Given the description of an element on the screen output the (x, y) to click on. 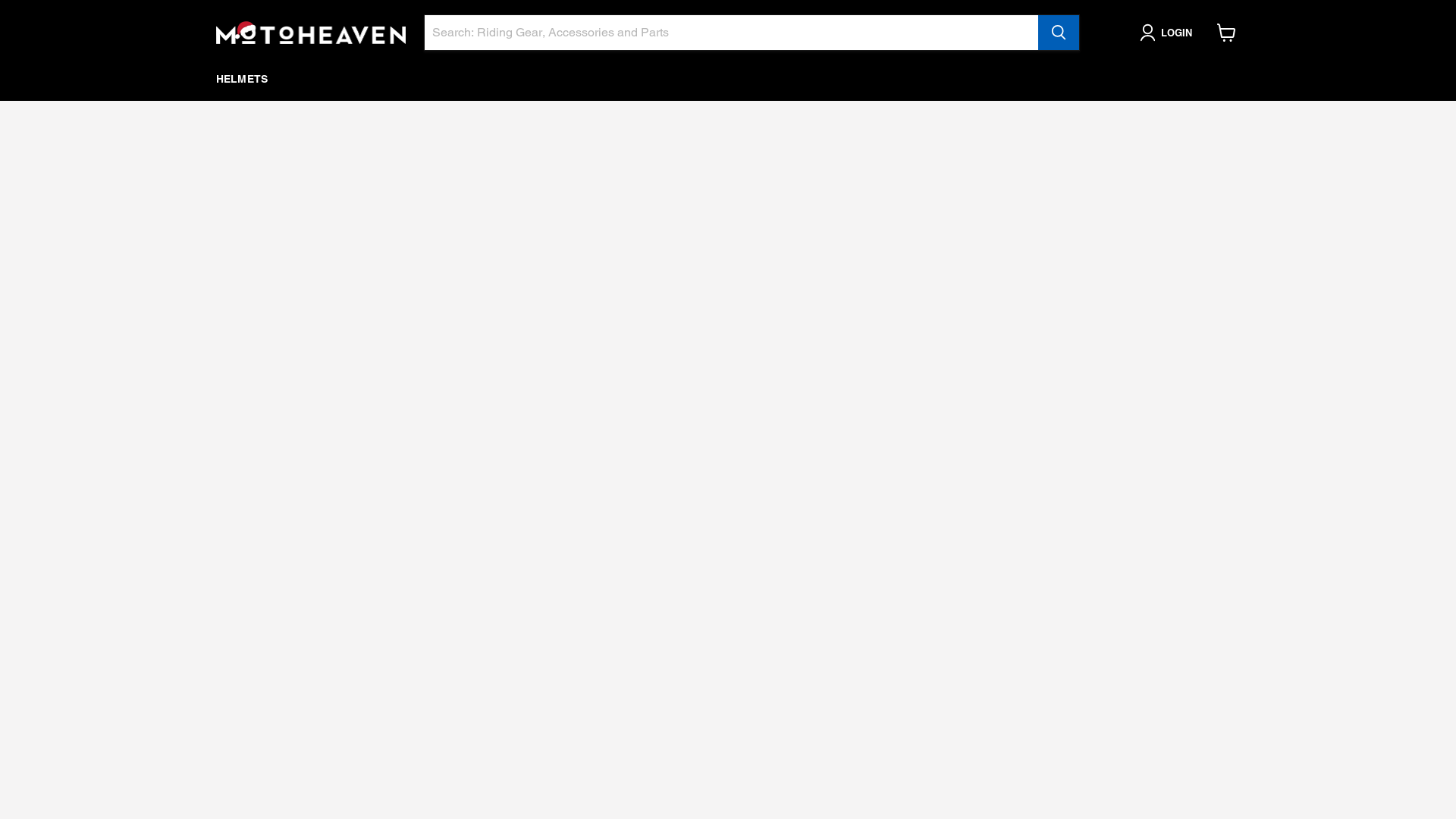
View cart Element type: text (1226, 32)
LOGIN Element type: text (1168, 32)
